Given the description of an element on the screen output the (x, y) to click on. 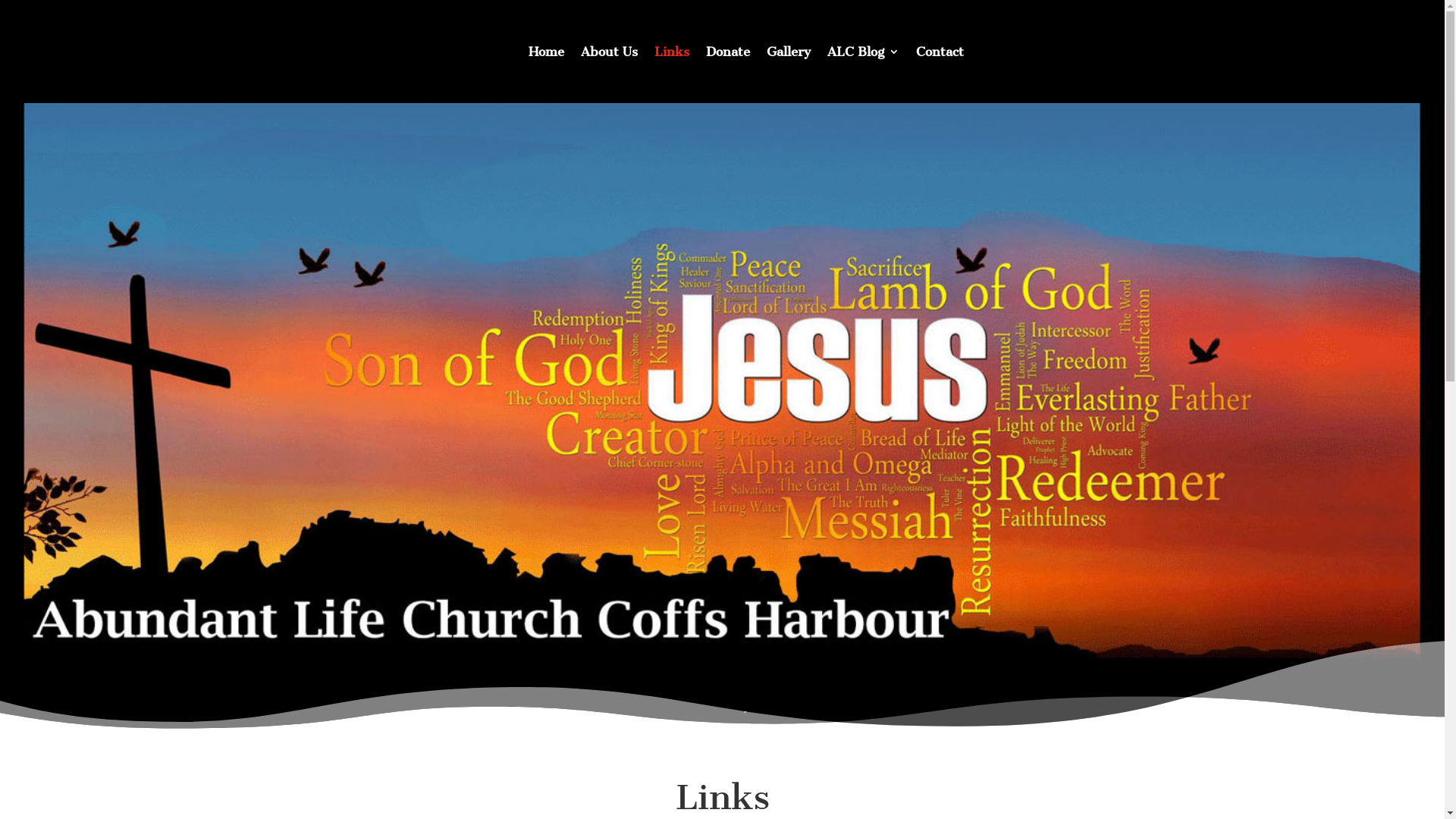
About Us Element type: text (608, 51)
Home Element type: text (545, 51)
ALC Blog Element type: text (862, 51)
Links Element type: text (670, 51)
Contact Element type: text (939, 51)
Gallery Element type: text (787, 51)
Donate Element type: text (727, 51)
